Given the description of an element on the screen output the (x, y) to click on. 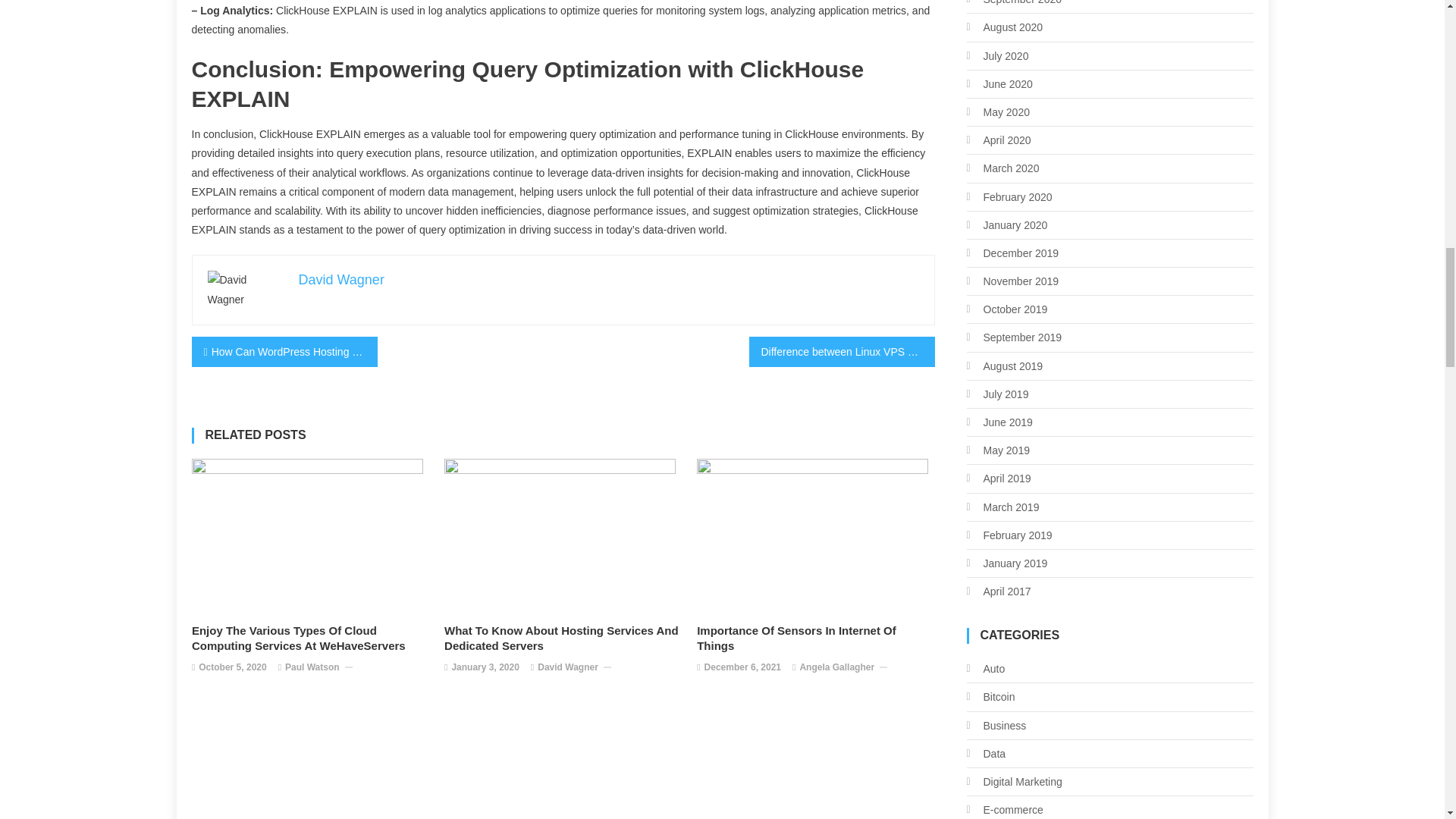
David Wagner (341, 279)
October 5, 2020 (232, 668)
January 3, 2020 (484, 668)
What To Know About Hosting Services And Dedicated Servers (562, 638)
Importance Of Sensors In Internet Of Things (815, 638)
Difference between Linux VPS and Windows (841, 351)
December 6, 2021 (742, 668)
Paul Watson (312, 668)
David Wagner (567, 668)
